Given the description of an element on the screen output the (x, y) to click on. 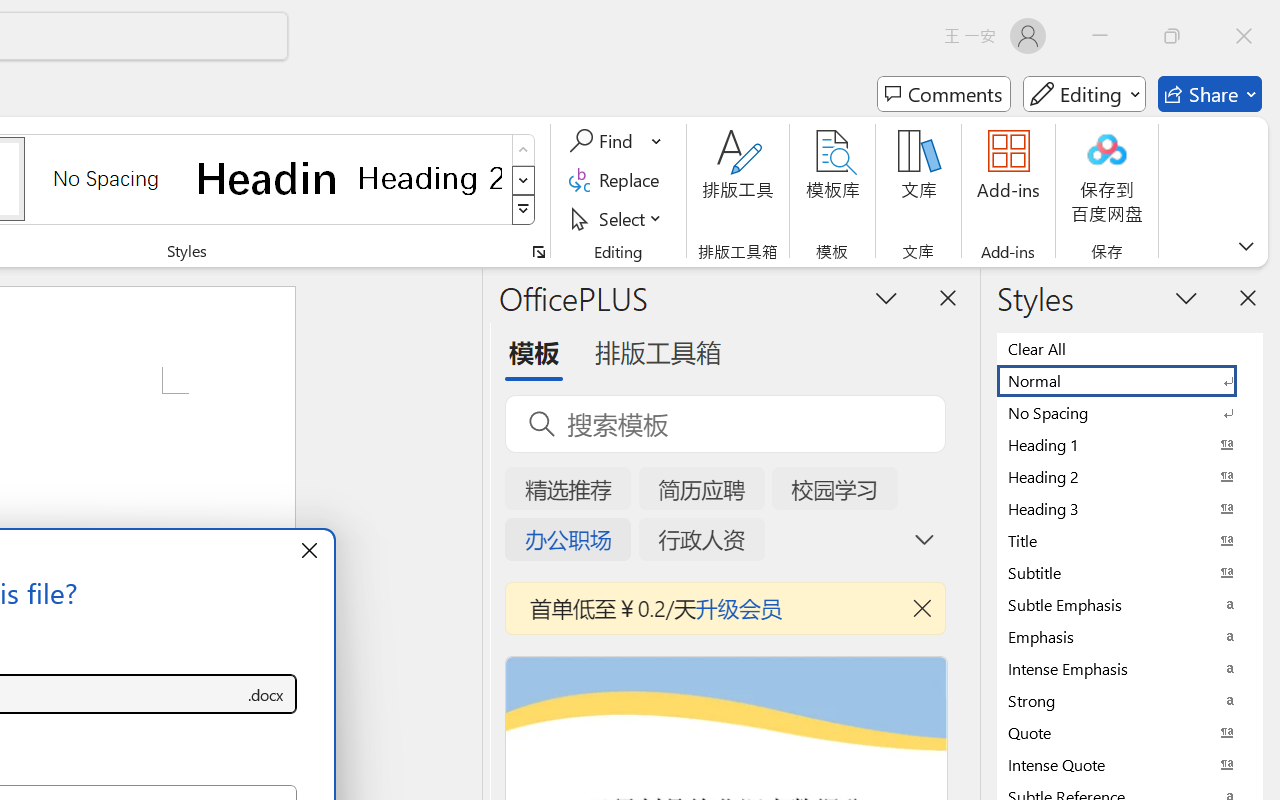
Strong (1130, 700)
Heading 2 (429, 178)
Emphasis (1130, 636)
Ribbon Display Options (1246, 245)
